Given the description of an element on the screen output the (x, y) to click on. 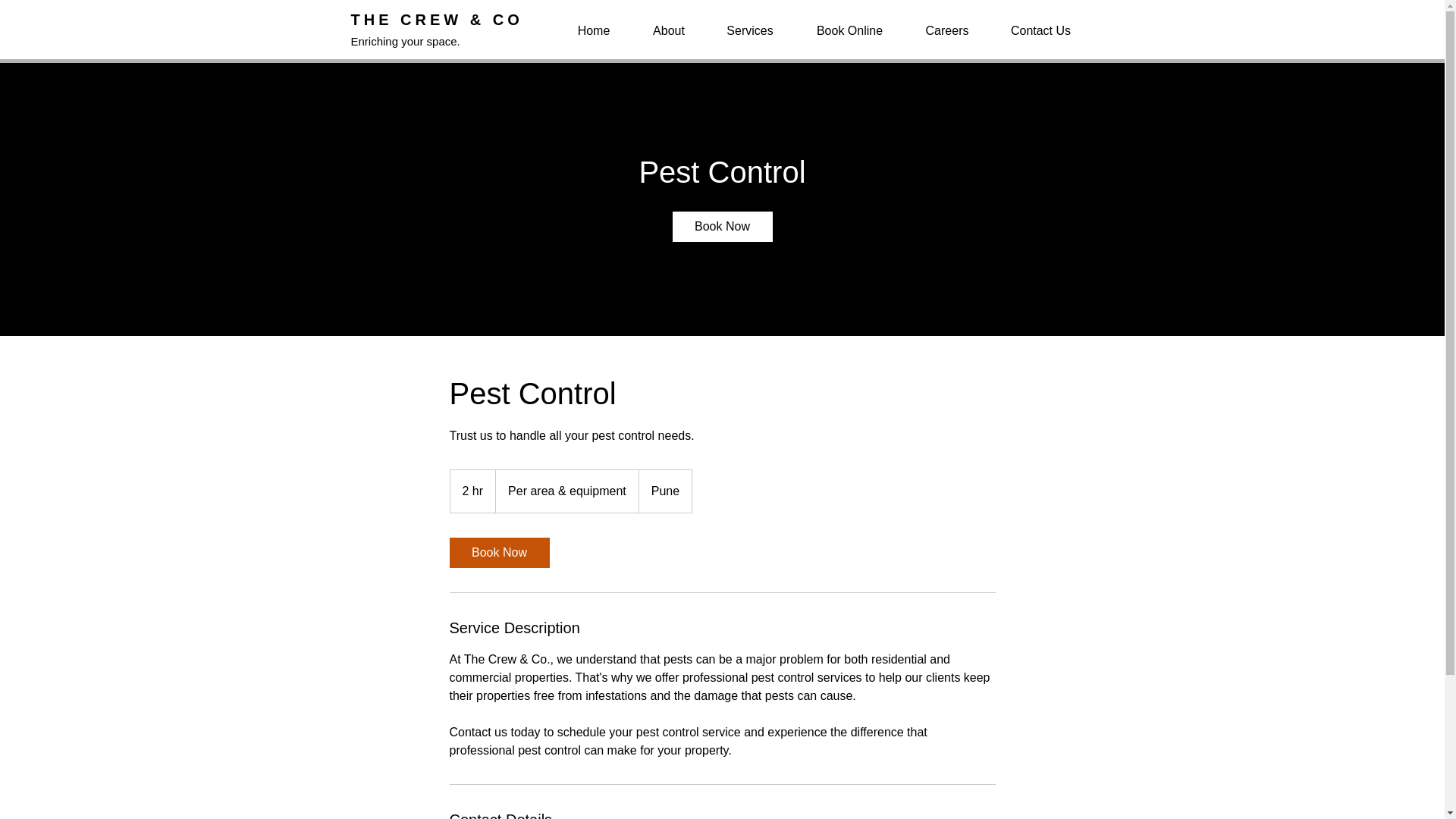
Home (593, 30)
Book Online (849, 30)
About (668, 30)
Book Now (721, 226)
Book Now (498, 552)
Careers (946, 30)
Services (749, 30)
Contact Us (1040, 30)
